Given the description of an element on the screen output the (x, y) to click on. 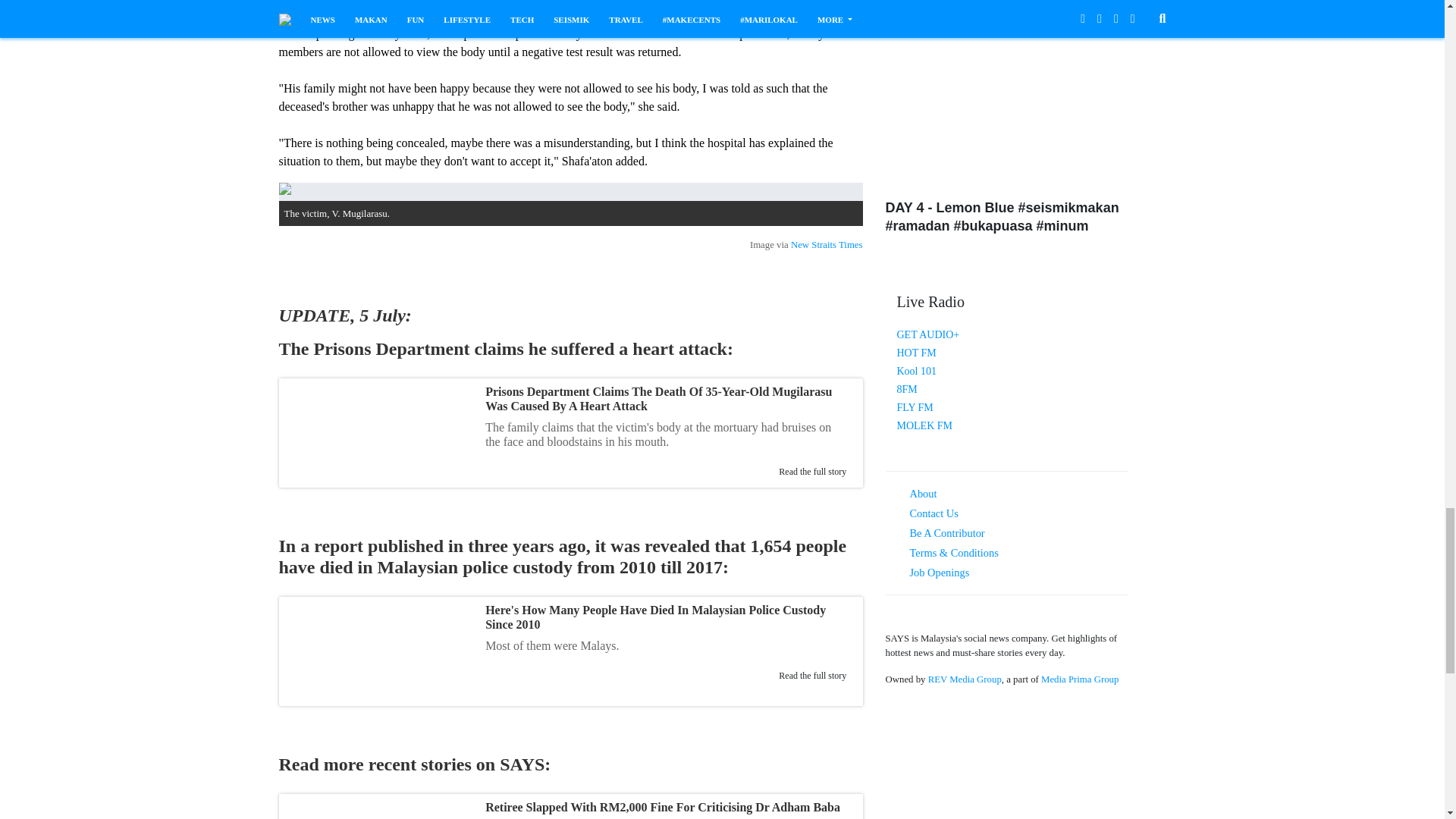
The victim, V. Mugilarasu. (571, 191)
